Given the description of an element on the screen output the (x, y) to click on. 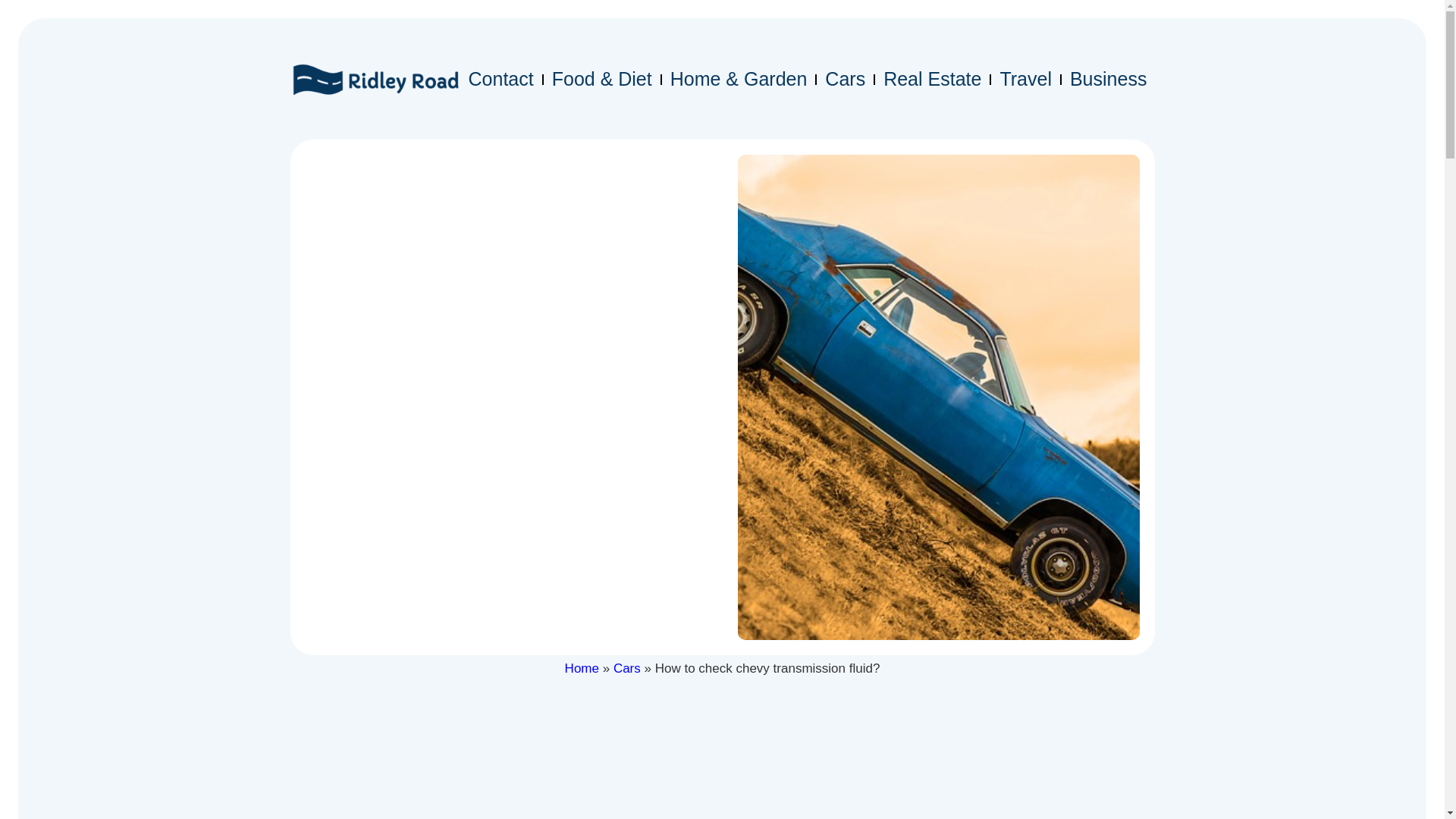
Cars (626, 667)
Business (1108, 79)
Contact (501, 79)
Real Estate (932, 79)
Travel (1025, 79)
Home (581, 667)
Cars (844, 79)
